Given the description of an element on the screen output the (x, y) to click on. 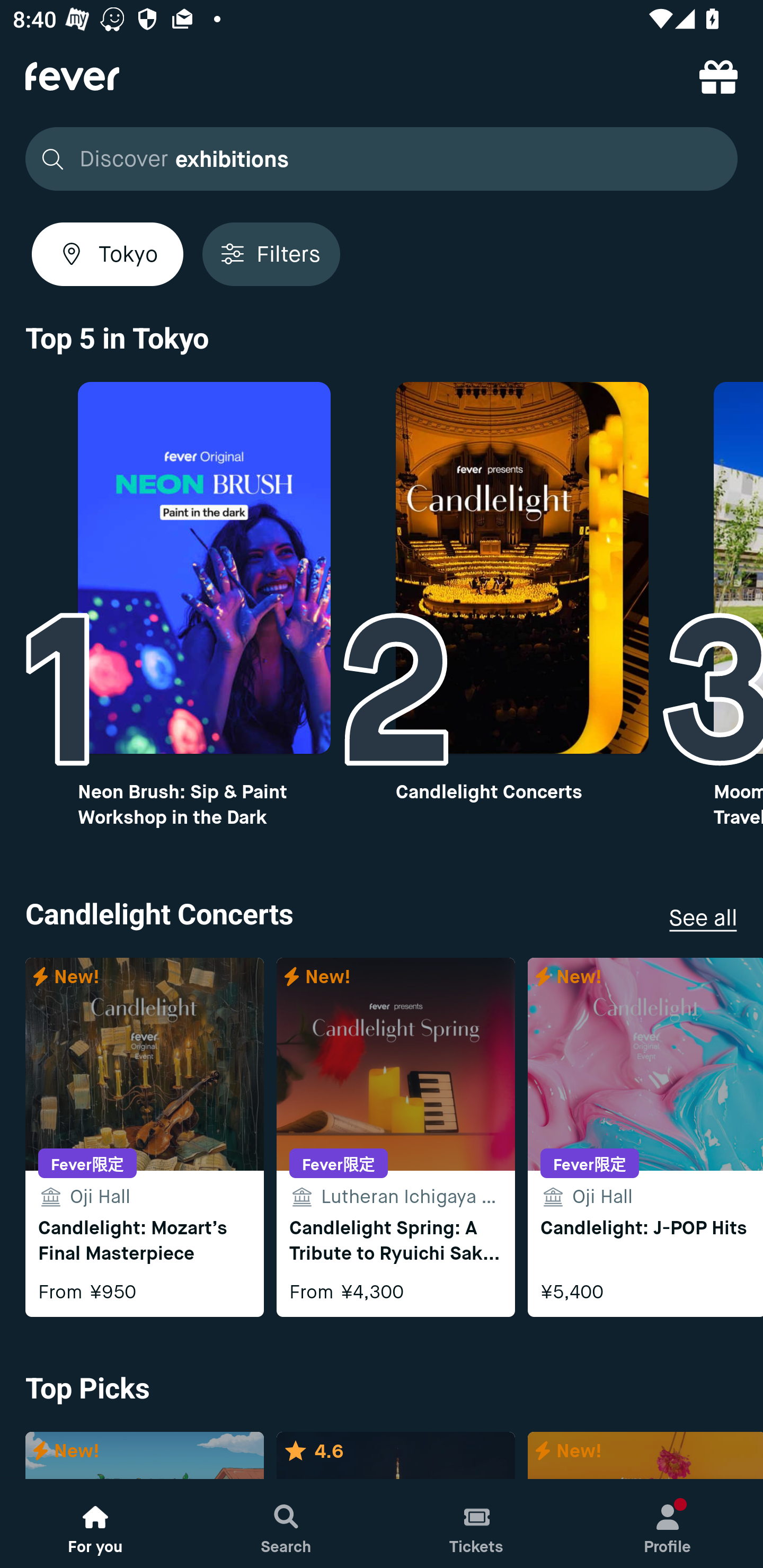
referral (718, 75)
Discover exhibitions (381, 158)
Discover exhibitions (376, 158)
Tokyo (107, 253)
Filters (271, 253)
Top10 image (203, 568)
Top10 image (521, 568)
See all (702, 917)
Search (285, 1523)
Tickets (476, 1523)
Profile, New notification Profile (667, 1523)
